Given the description of an element on the screen output the (x, y) to click on. 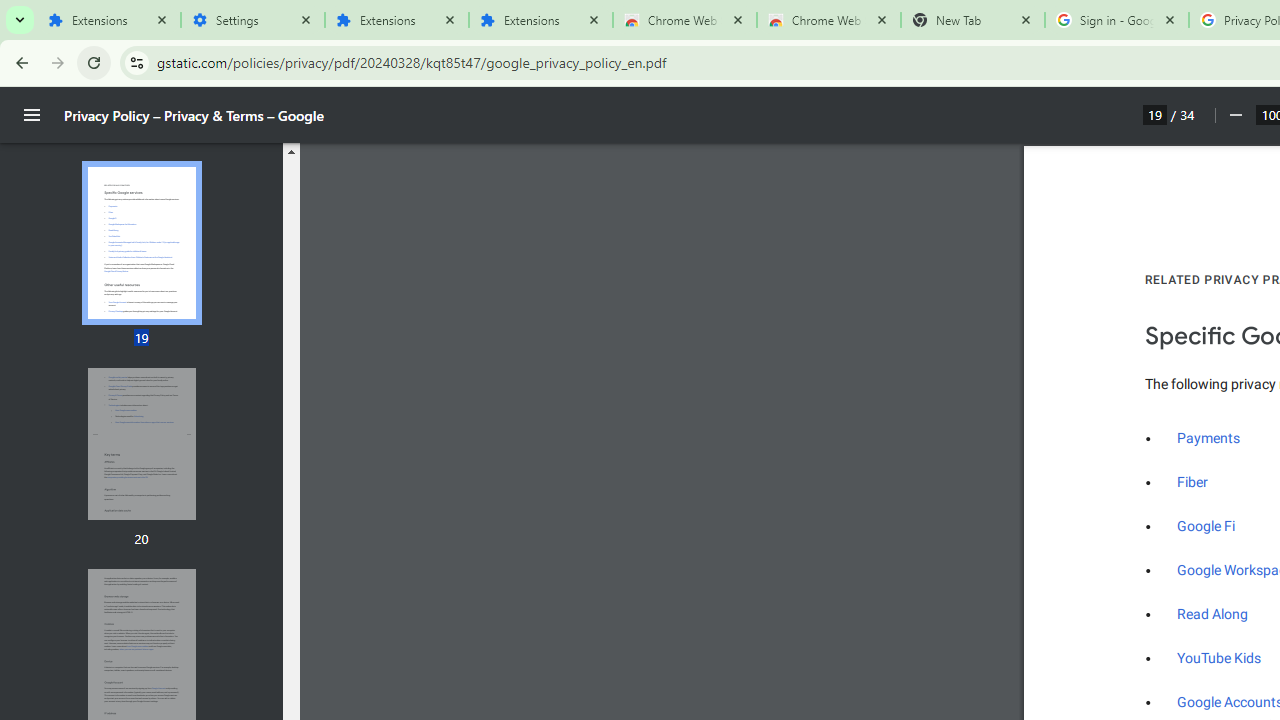
Zoom out (1234, 115)
Chrome Web Store (1219, 658)
Extensions (684, 20)
Thumbnail for page 19 (396, 20)
Sign in - Google Accounts (1193, 482)
Extensions (141, 243)
Menu (1116, 20)
